Given the description of an element on the screen output the (x, y) to click on. 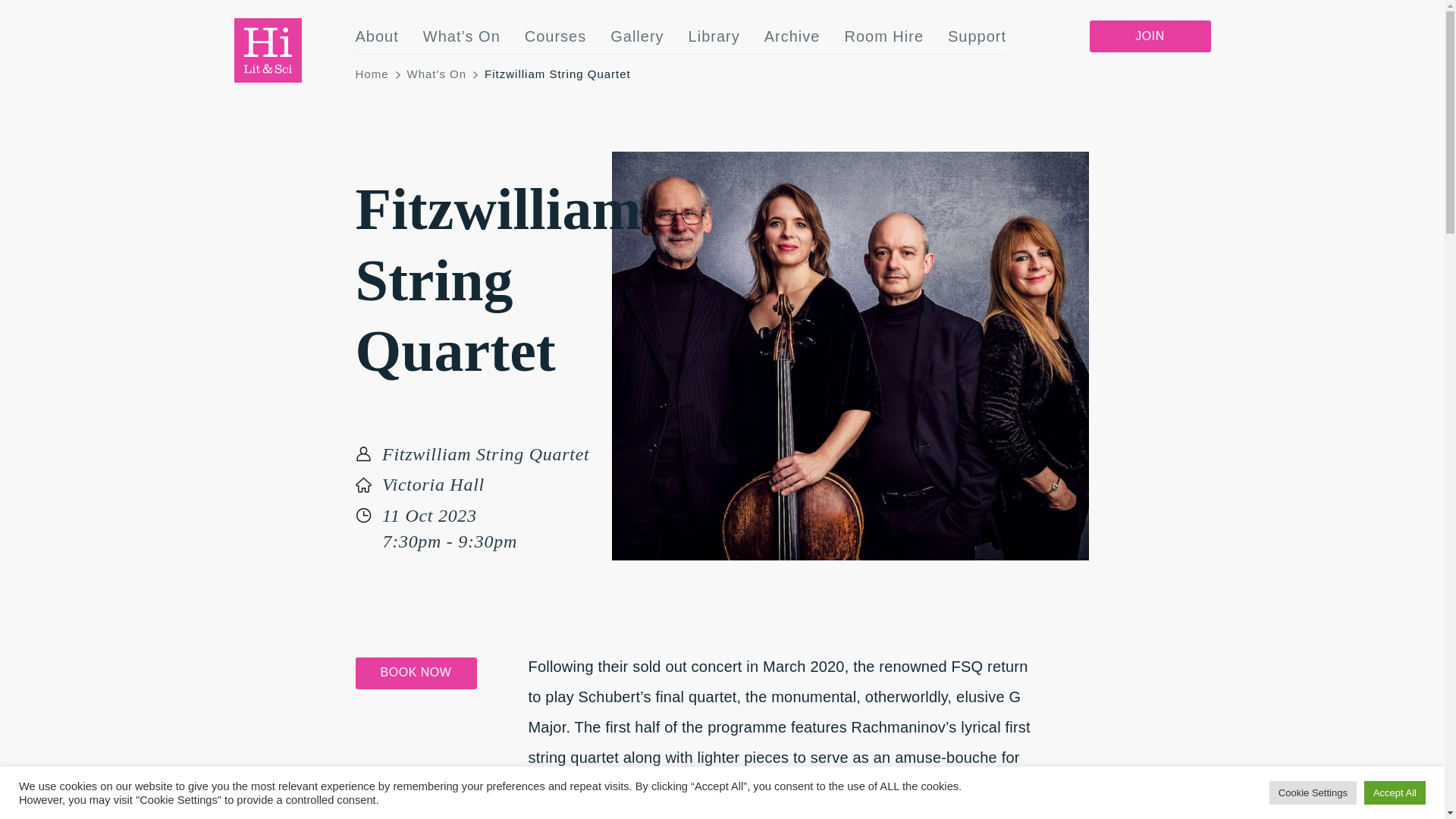
About (376, 36)
